Given the description of an element on the screen output the (x, y) to click on. 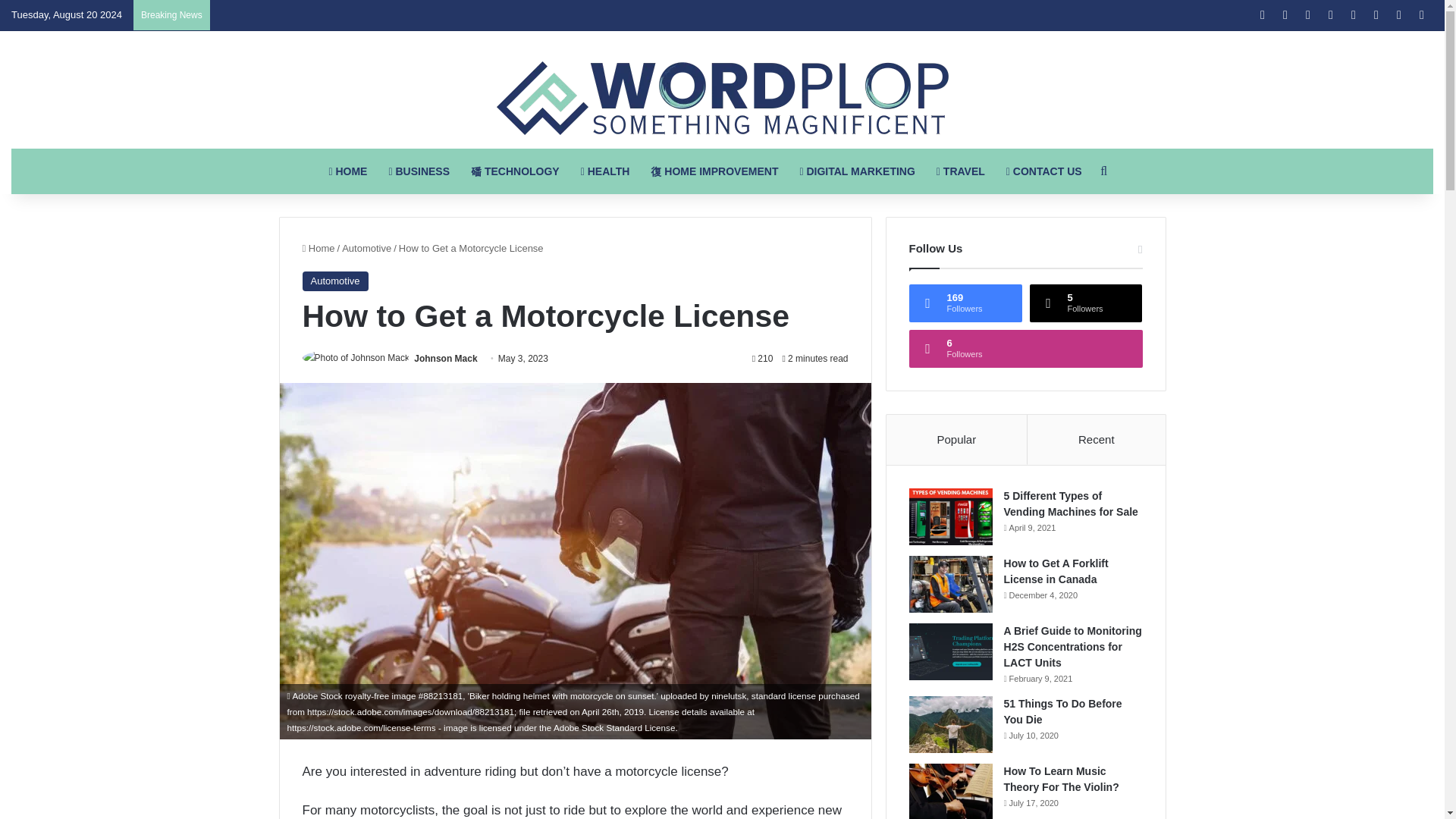
DIGITAL MARKETING (856, 171)
CONTACT US (1044, 171)
Johnson Mack (445, 357)
Johnson Mack (445, 357)
Automotive (334, 281)
Home (317, 247)
BUSINESS (418, 171)
TECHNOLOGY (515, 171)
TRAVEL (960, 171)
HOME IMPROVEMENT (714, 171)
